Given the description of an element on the screen output the (x, y) to click on. 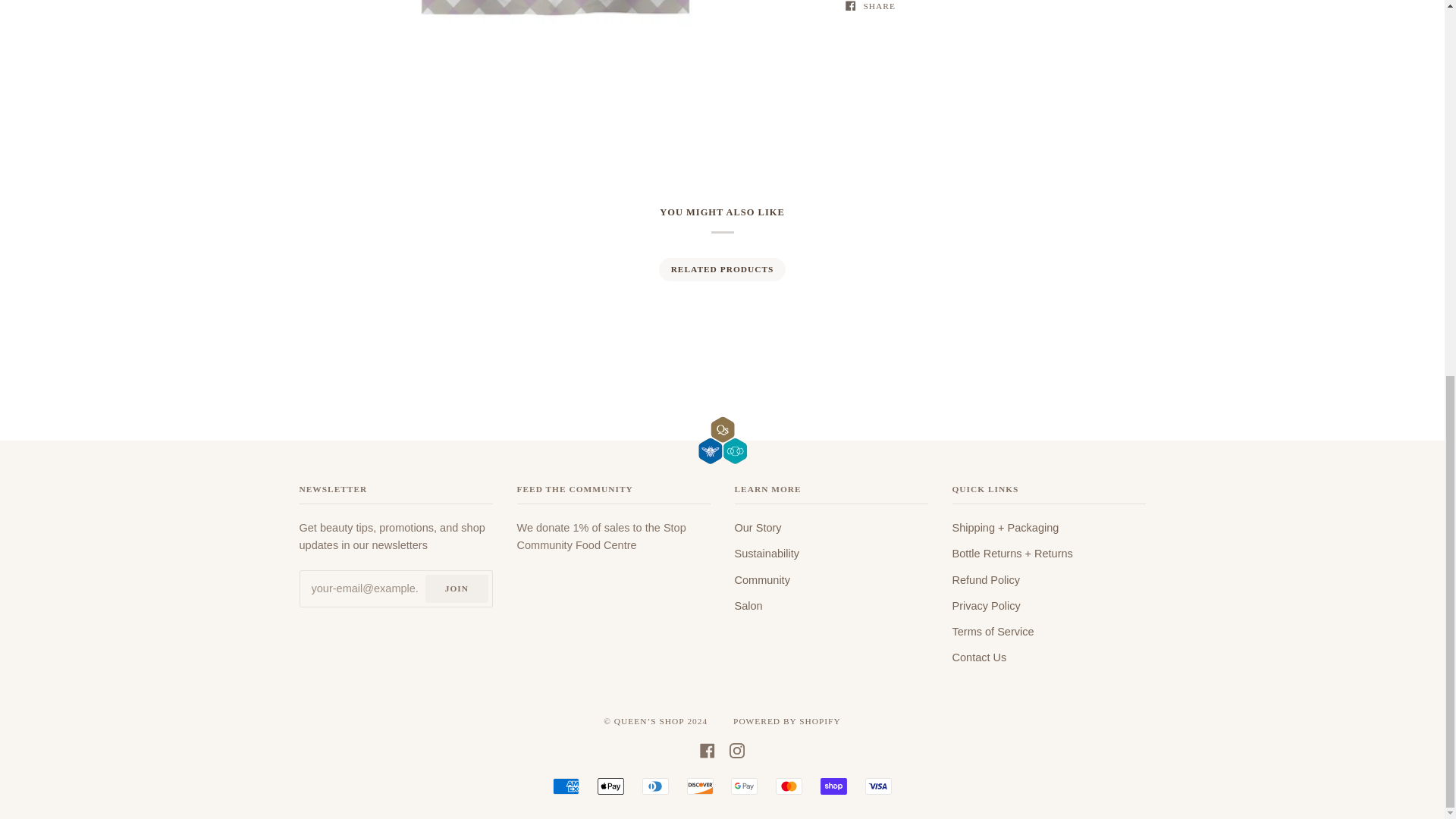
RELATED PRODUCTS (721, 268)
Instagram (736, 749)
SHOP PAY (834, 786)
GOOGLE PAY (743, 786)
DISCOVER (700, 786)
AMERICAN EXPRESS (566, 786)
APPLE PAY (610, 786)
DINERS CLUB (655, 786)
MASTERCARD (789, 786)
Facebook (707, 749)
